Given the description of an element on the screen output the (x, y) to click on. 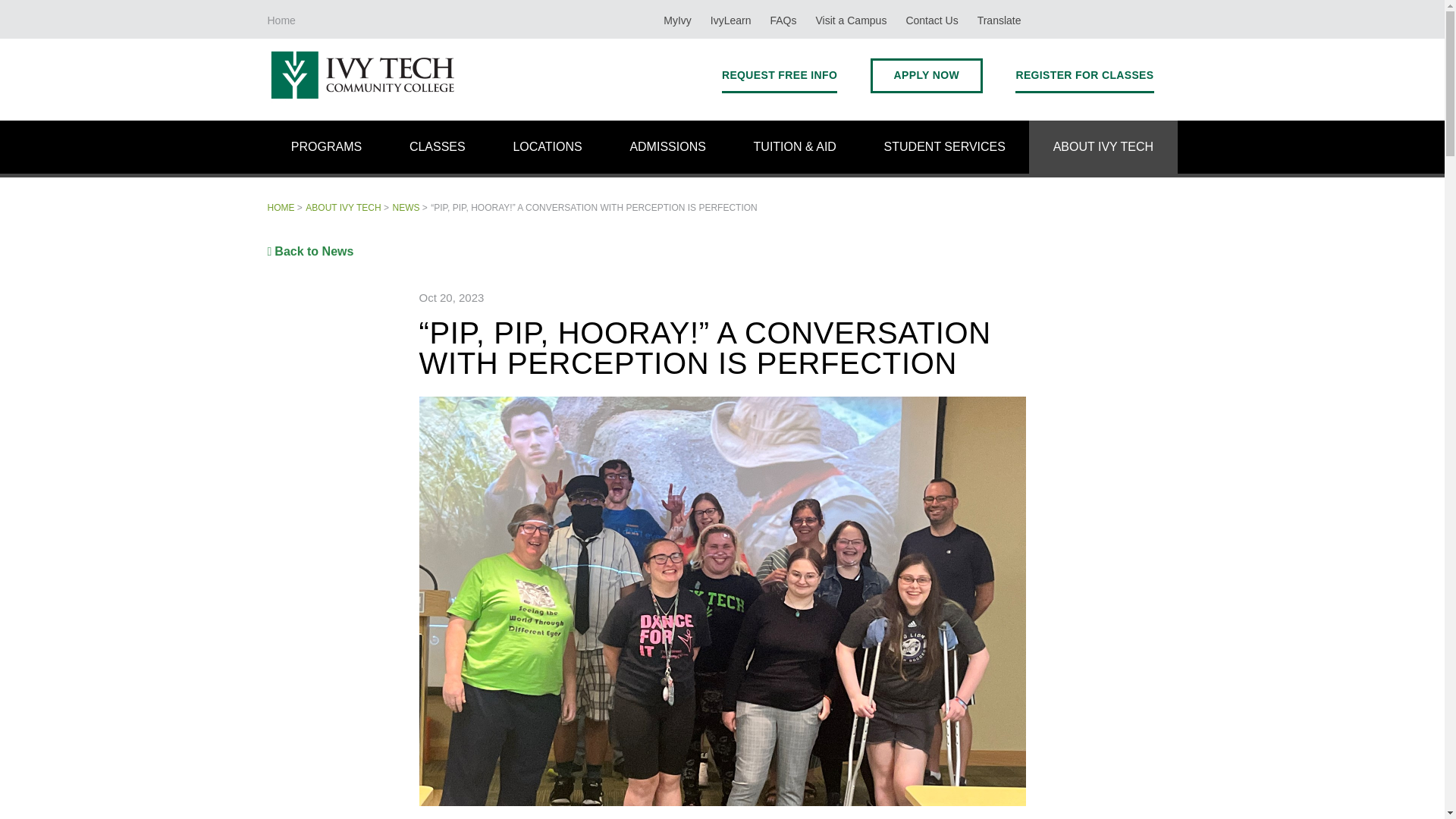
Home (280, 19)
Translate (999, 19)
Visit a Campus (851, 19)
REQUEST FREE INFO (779, 75)
FAQs (782, 19)
REGISTER FOR CLASSES (1083, 75)
IvyLearn (730, 19)
MyIvy (676, 19)
APPLY NOW (926, 75)
Translate (999, 19)
